Given the description of an element on the screen output the (x, y) to click on. 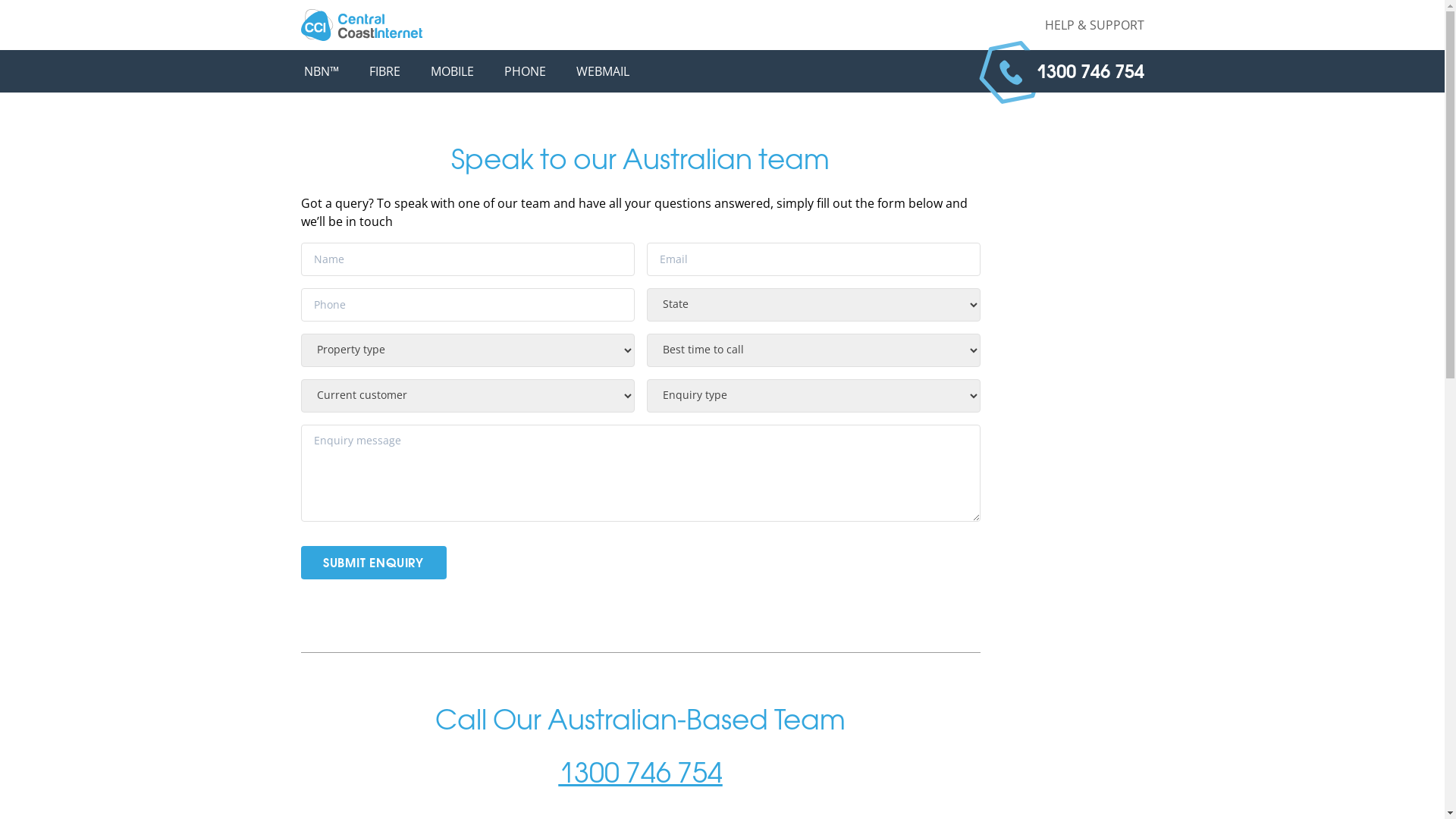
SUBMIT ENQUIRY Element type: text (372, 562)
HELP & SUPPORT Element type: text (1094, 24)
1300 746 754 Element type: text (639, 774)
WEBMAIL Element type: text (602, 71)
FIBRE Element type: text (383, 71)
1300 746 754 Element type: text (1089, 71)
